Given the description of an element on the screen output the (x, y) to click on. 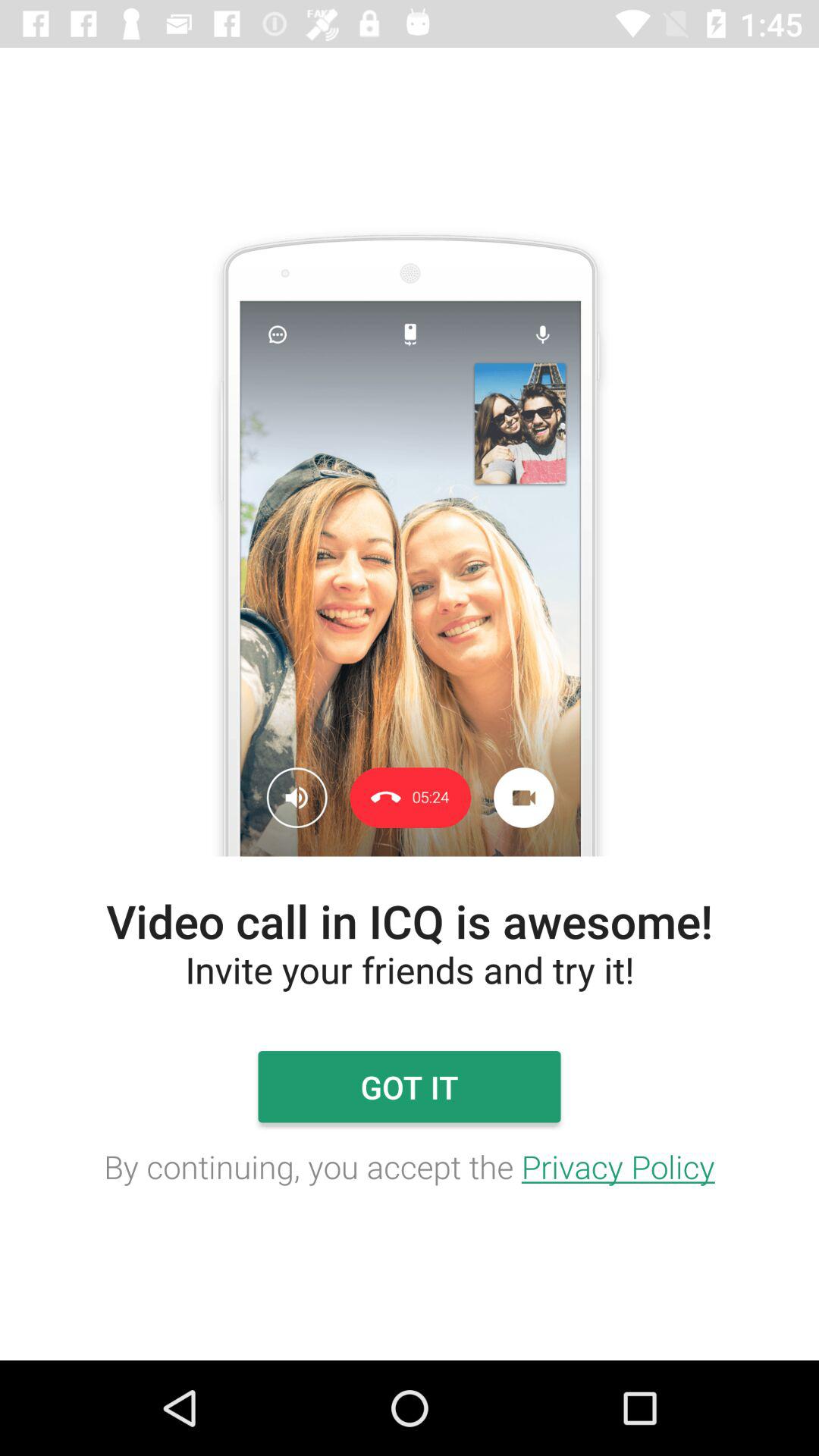
flip until the by continuing you (409, 1166)
